Given the description of an element on the screen output the (x, y) to click on. 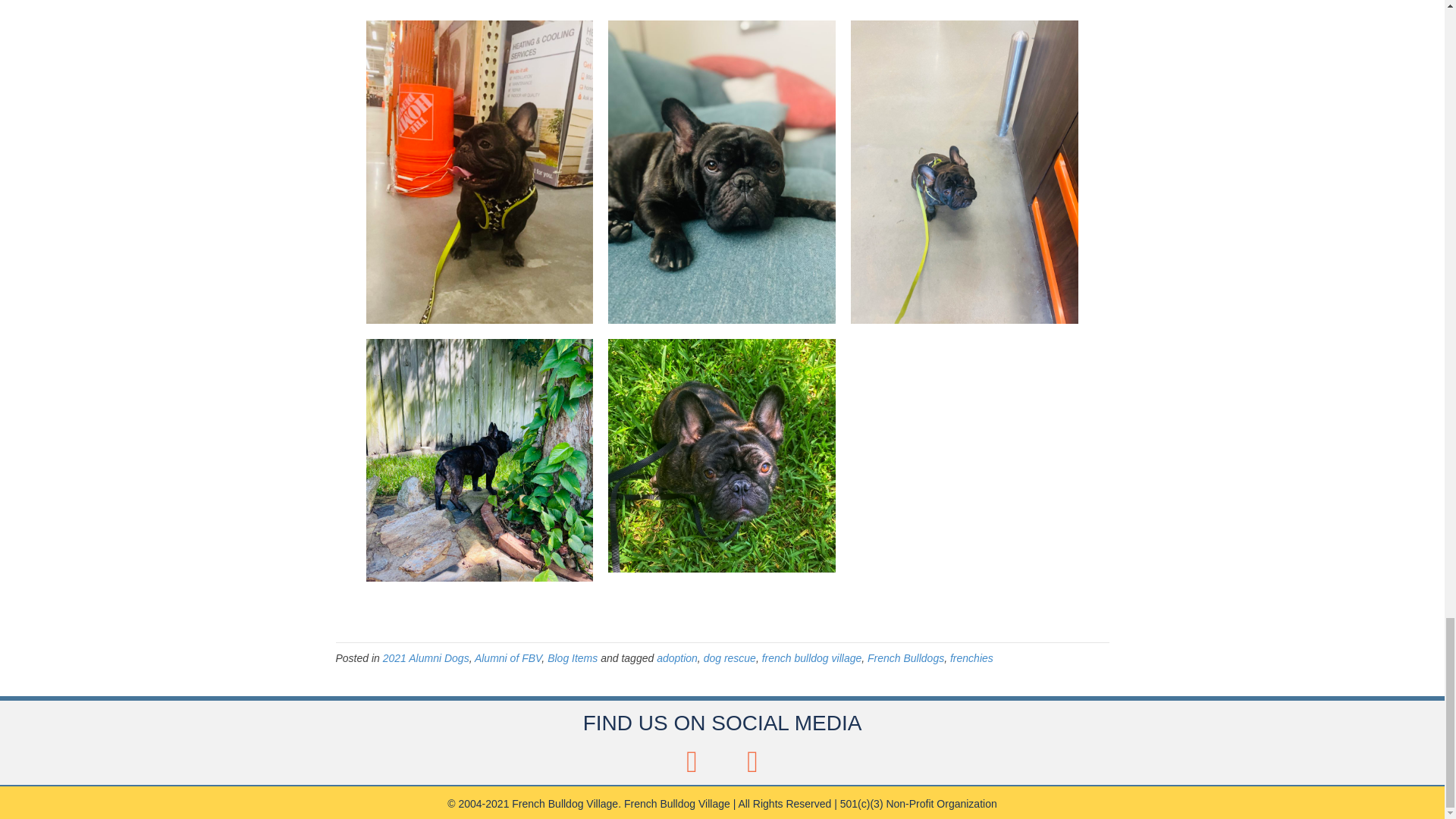
Facebook (691, 761)
Instagram (751, 761)
Debo2 (721, 455)
Deboavailable6 (478, 460)
2021 Alumni Dogs (425, 657)
